Given the description of an element on the screen output the (x, y) to click on. 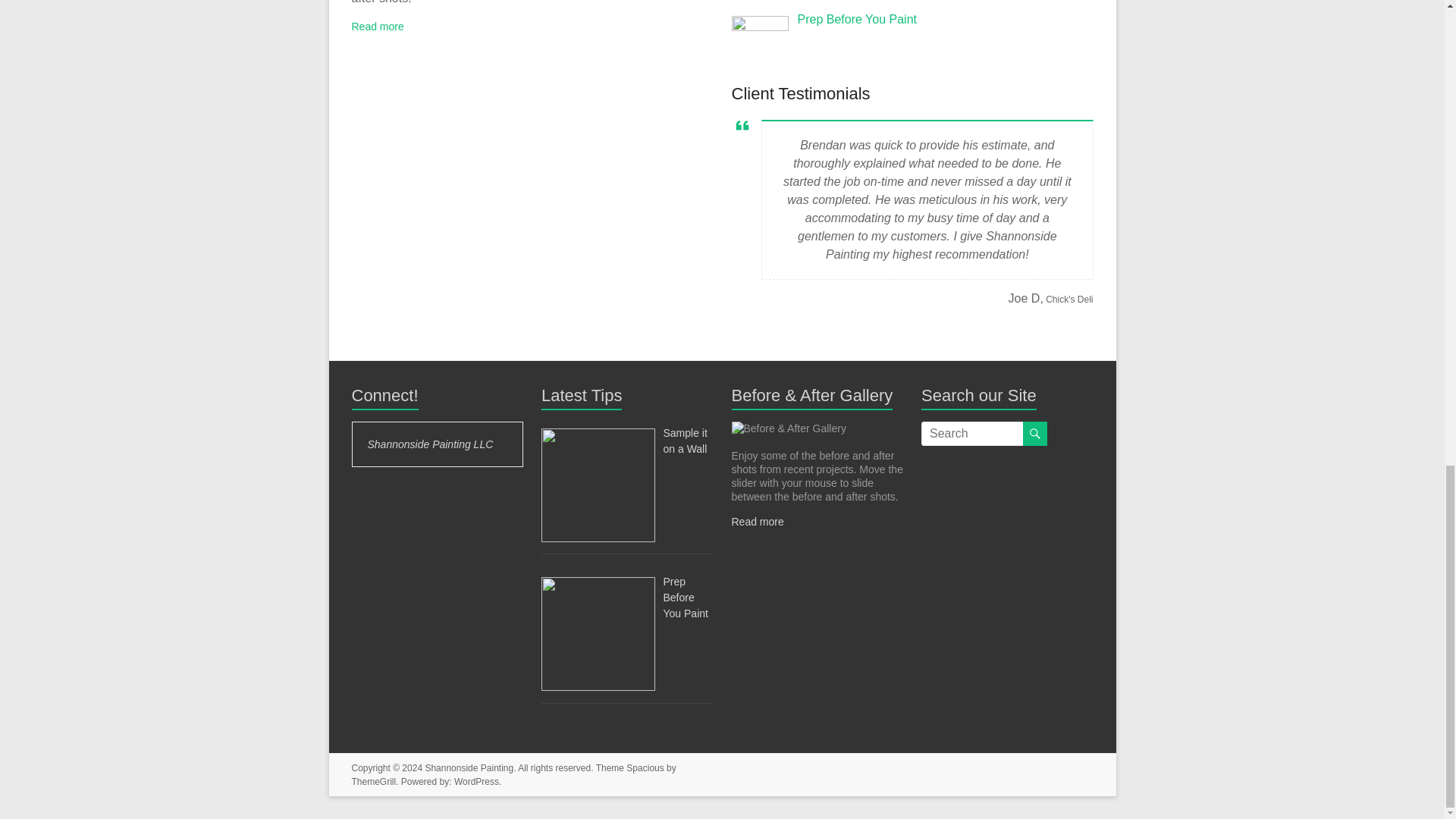
Read more (756, 521)
Prep Before You Paint (857, 19)
Sample it on a Wall (684, 440)
Read more (378, 26)
WordPress (476, 781)
Shannonside Painting LLC (429, 444)
Spacious (644, 767)
Prep Before You Paint (684, 597)
Shannonside Painting (469, 767)
